Given the description of an element on the screen output the (x, y) to click on. 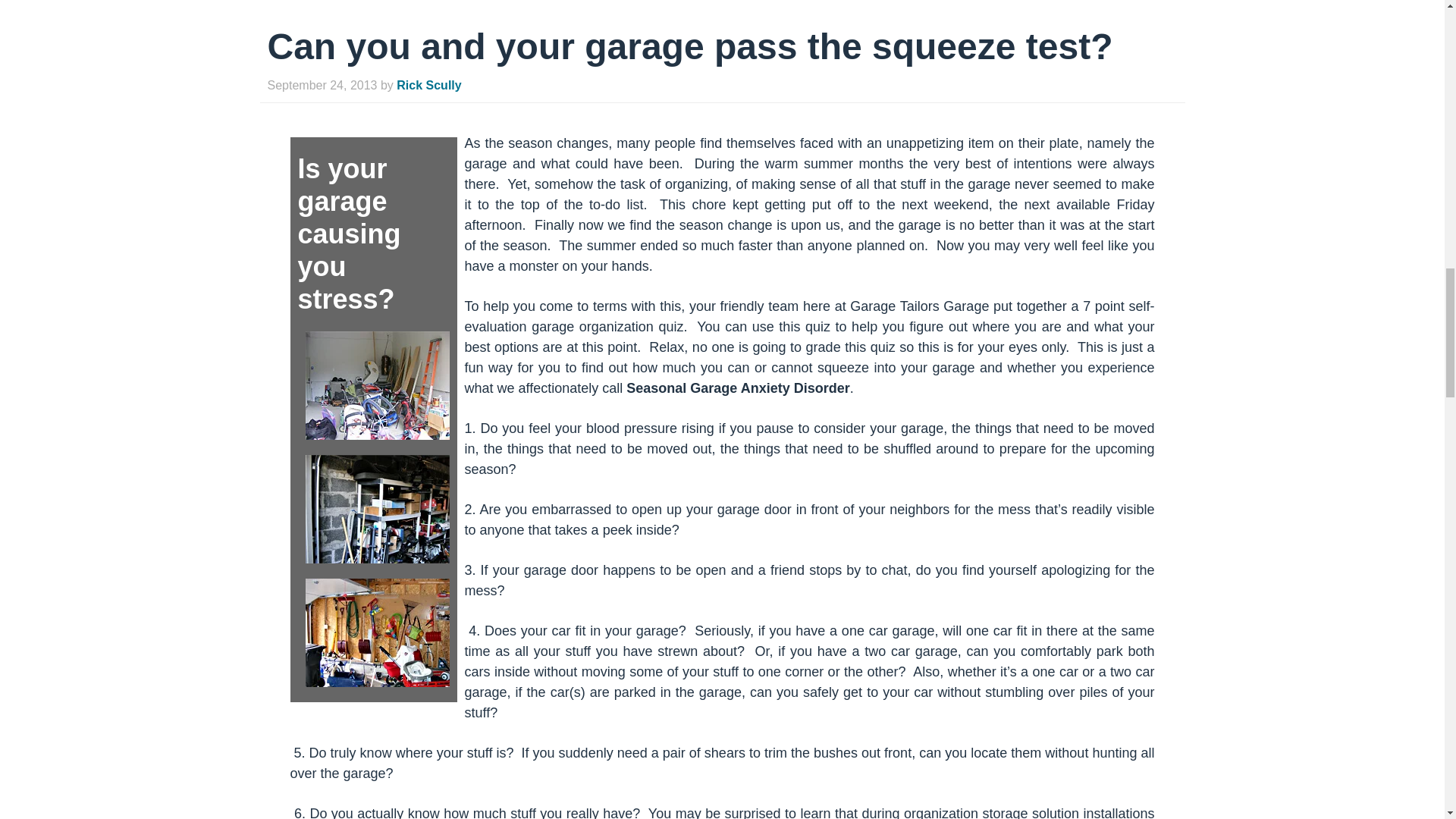
Before left wall 1 car garage nov 2011 190w  (376, 509)
Back right 1 car central toronto garage 190x143 before  (376, 385)
